Given the description of an element on the screen output the (x, y) to click on. 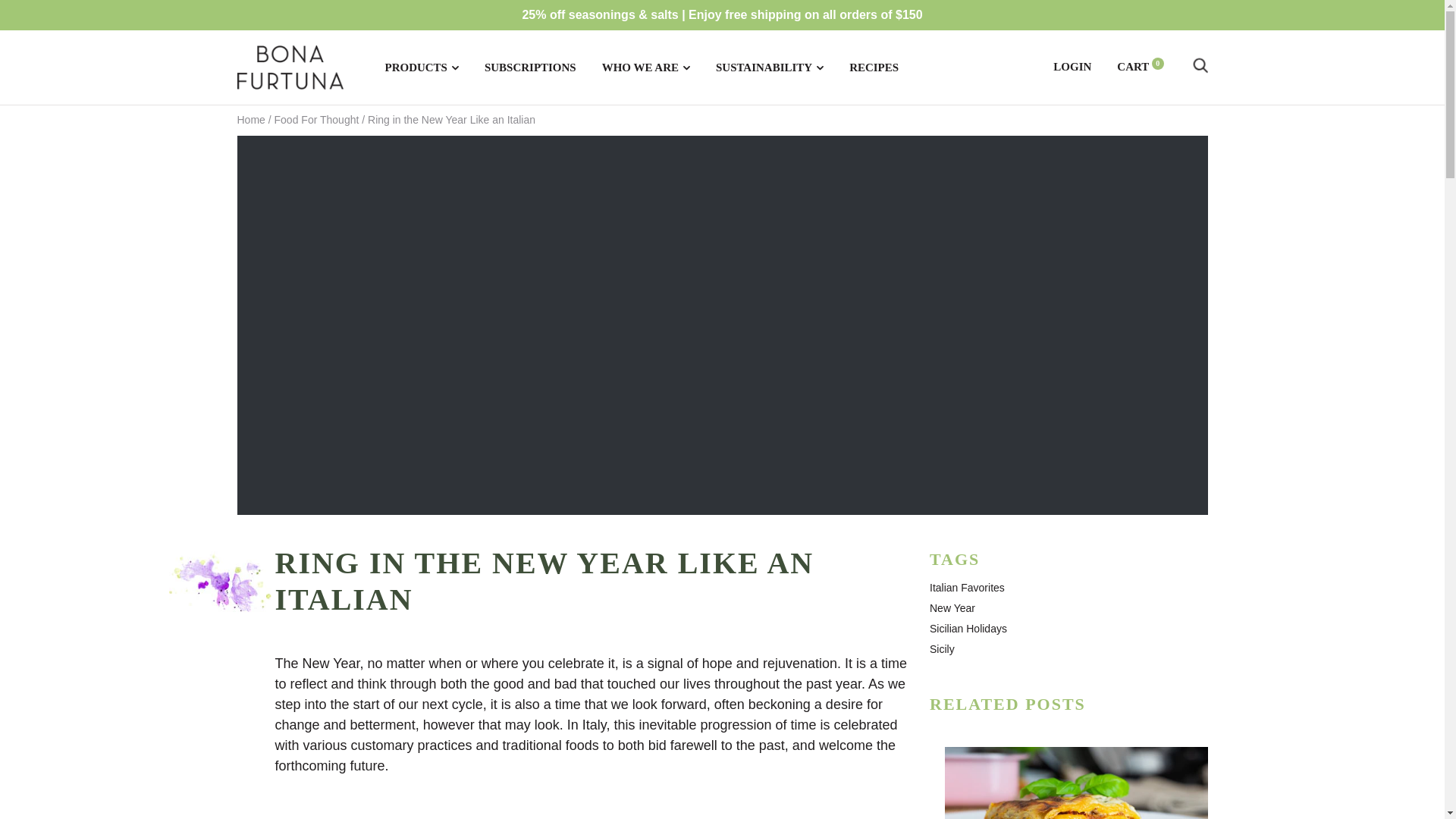
Show articles tagged Sicily (942, 648)
Show articles tagged Italian Favorites (967, 587)
Show articles tagged Sicilian Holidays (968, 628)
Show articles tagged New Year (952, 607)
Home (249, 119)
